Given the description of an element on the screen output the (x, y) to click on. 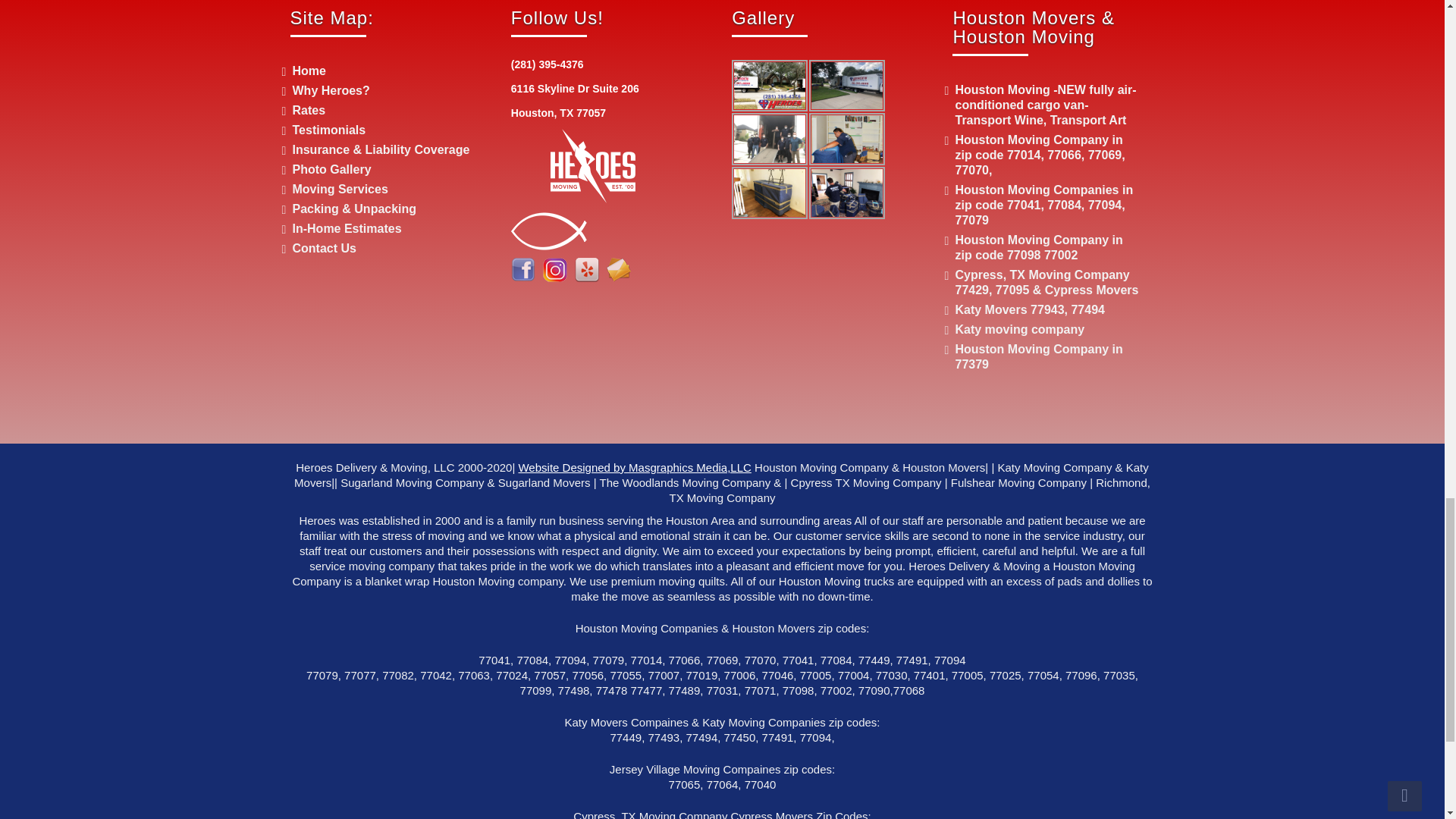
Home (309, 70)
